Given the description of an element on the screen output the (x, y) to click on. 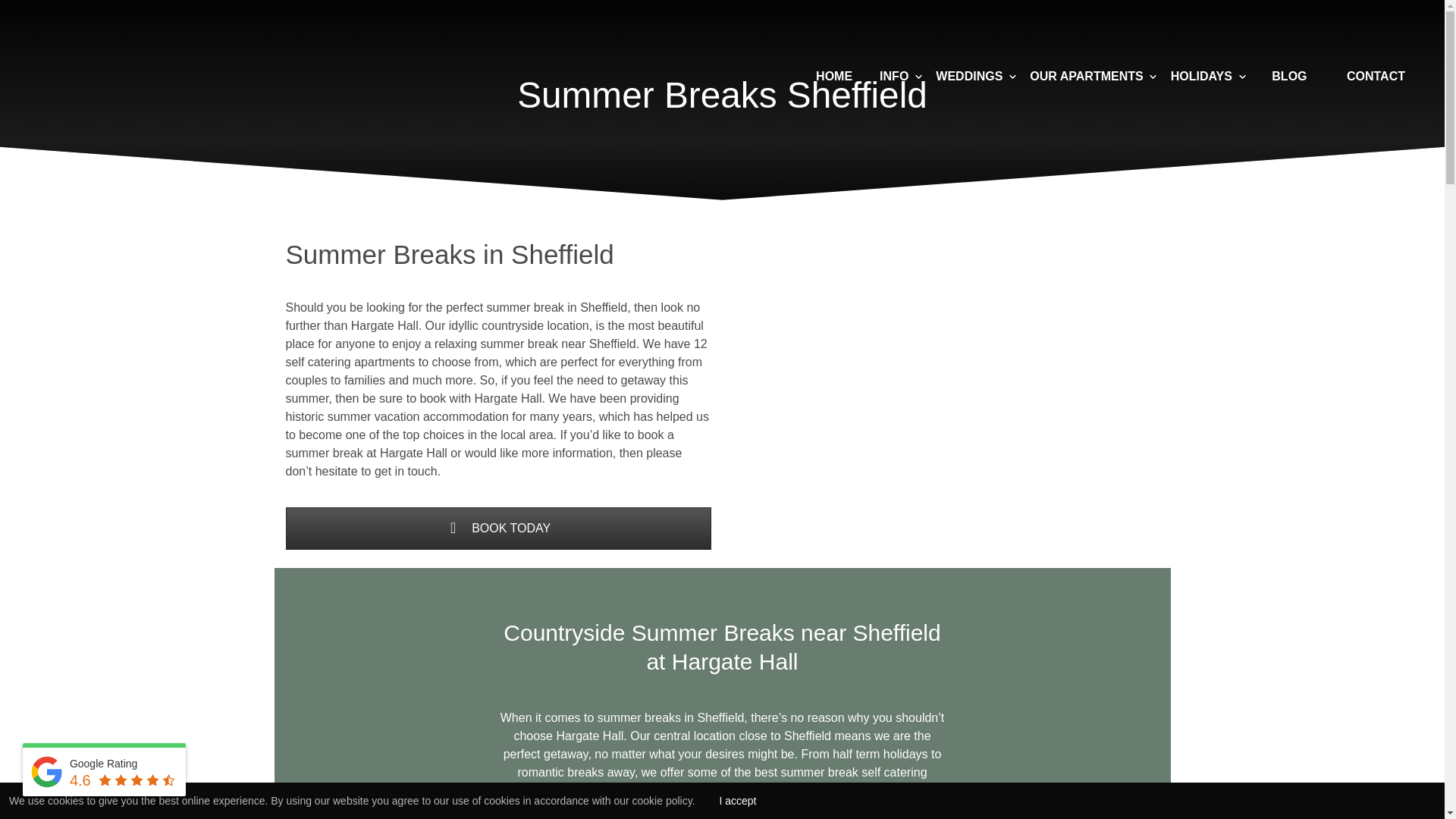
Our Apartments (1085, 75)
Info (893, 75)
HOLIDAYS (1201, 75)
WEDDINGS (968, 75)
 HOME (832, 75)
INFO (893, 75)
Weddings (968, 75)
Home (832, 75)
OUR APARTMENTS (1085, 75)
